Given the description of an element on the screen output the (x, y) to click on. 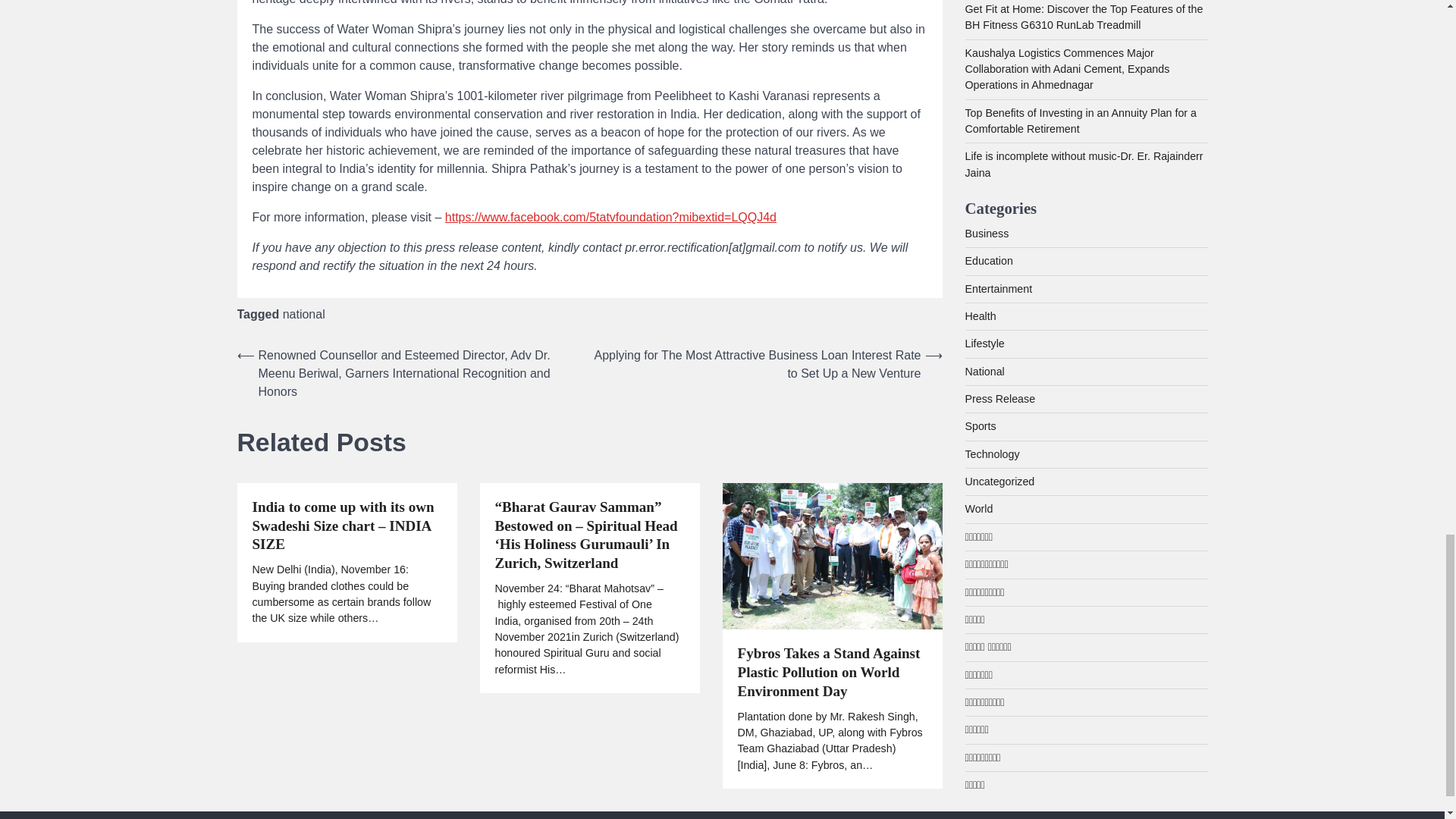
national (303, 314)
